Given the description of an element on the screen output the (x, y) to click on. 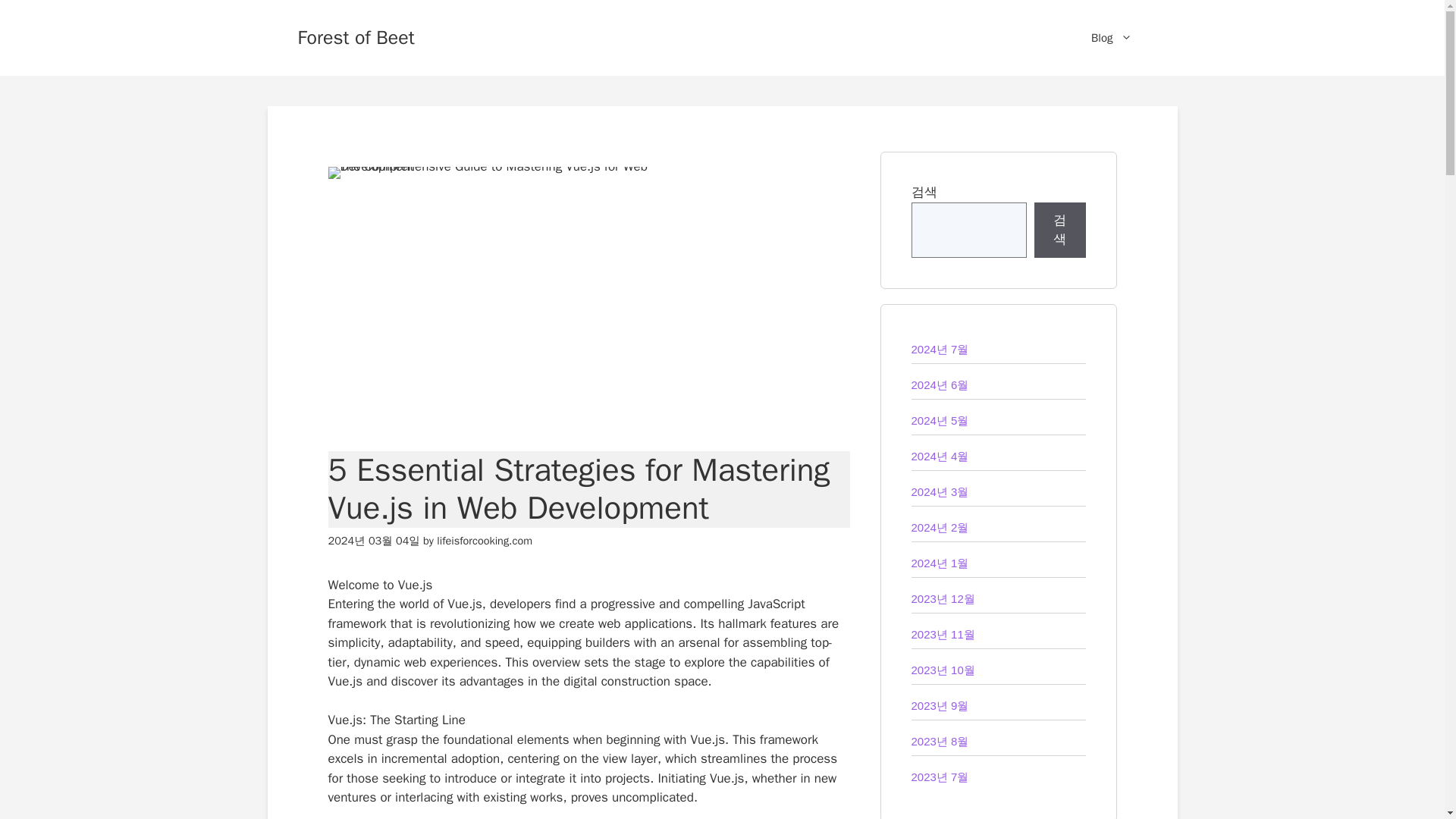
lifeisforcooking.com (484, 540)
View all posts by lifeisforcooking.com (484, 540)
Blog (1111, 37)
Forest of Beet (355, 37)
